Given the description of an element on the screen output the (x, y) to click on. 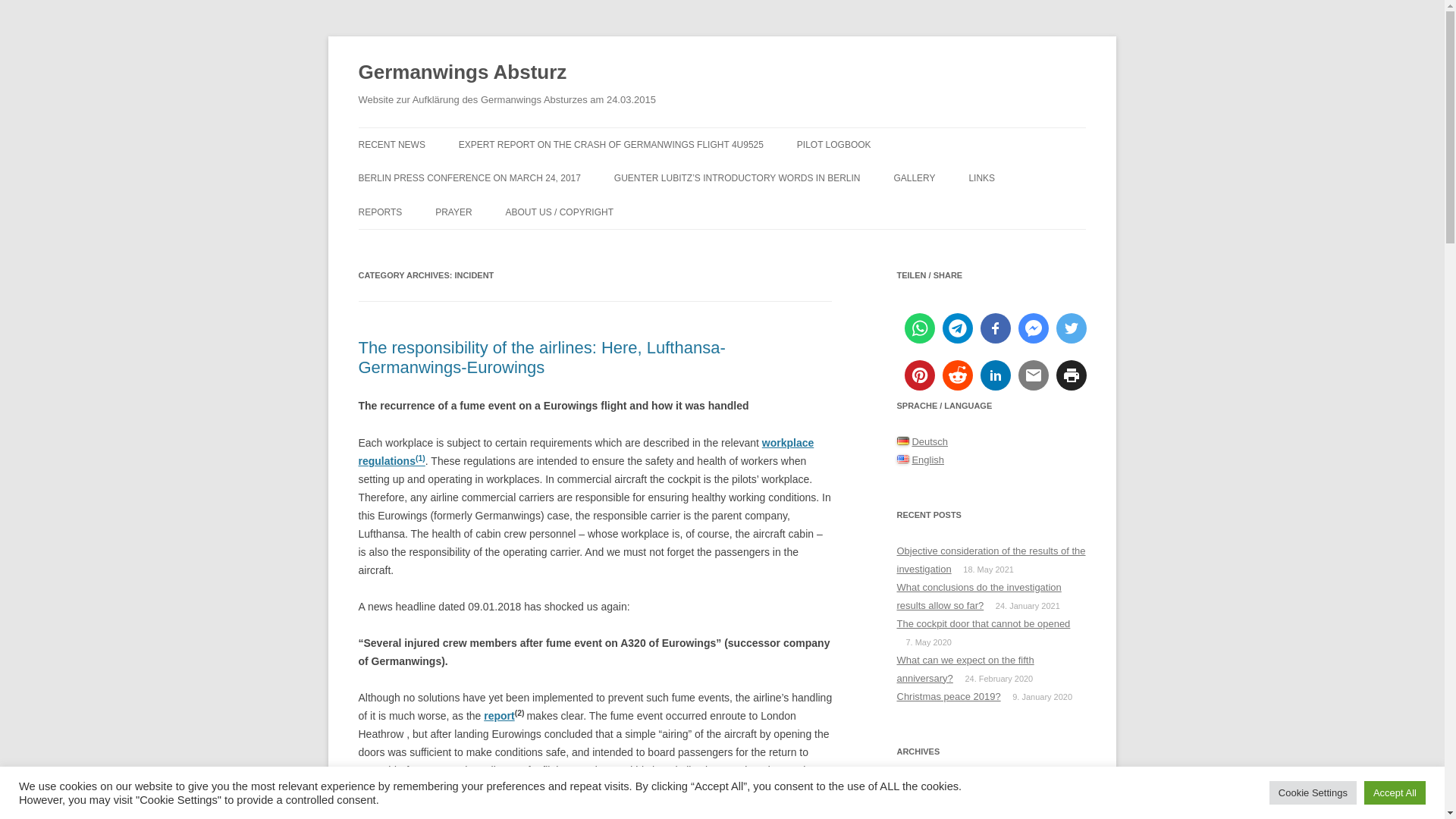
PILOT LOGBOOK (833, 144)
DATA PROTECTION (581, 244)
REPORTS (379, 212)
Deutsch (902, 440)
RECENT NEWS (391, 144)
PRAYER (453, 212)
report (498, 715)
EXPERT REPORT ON THE CRASH OF GERMANWINGS FLIGHT 4U9525 (610, 144)
TOPIC LINKS (1043, 210)
GALLERY (913, 177)
BERLIN PRESS CONFERENCE ON MARCH 24, 2017 (468, 177)
LINKS (981, 177)
Germanwings Absturz (462, 72)
